Given the description of an element on the screen output the (x, y) to click on. 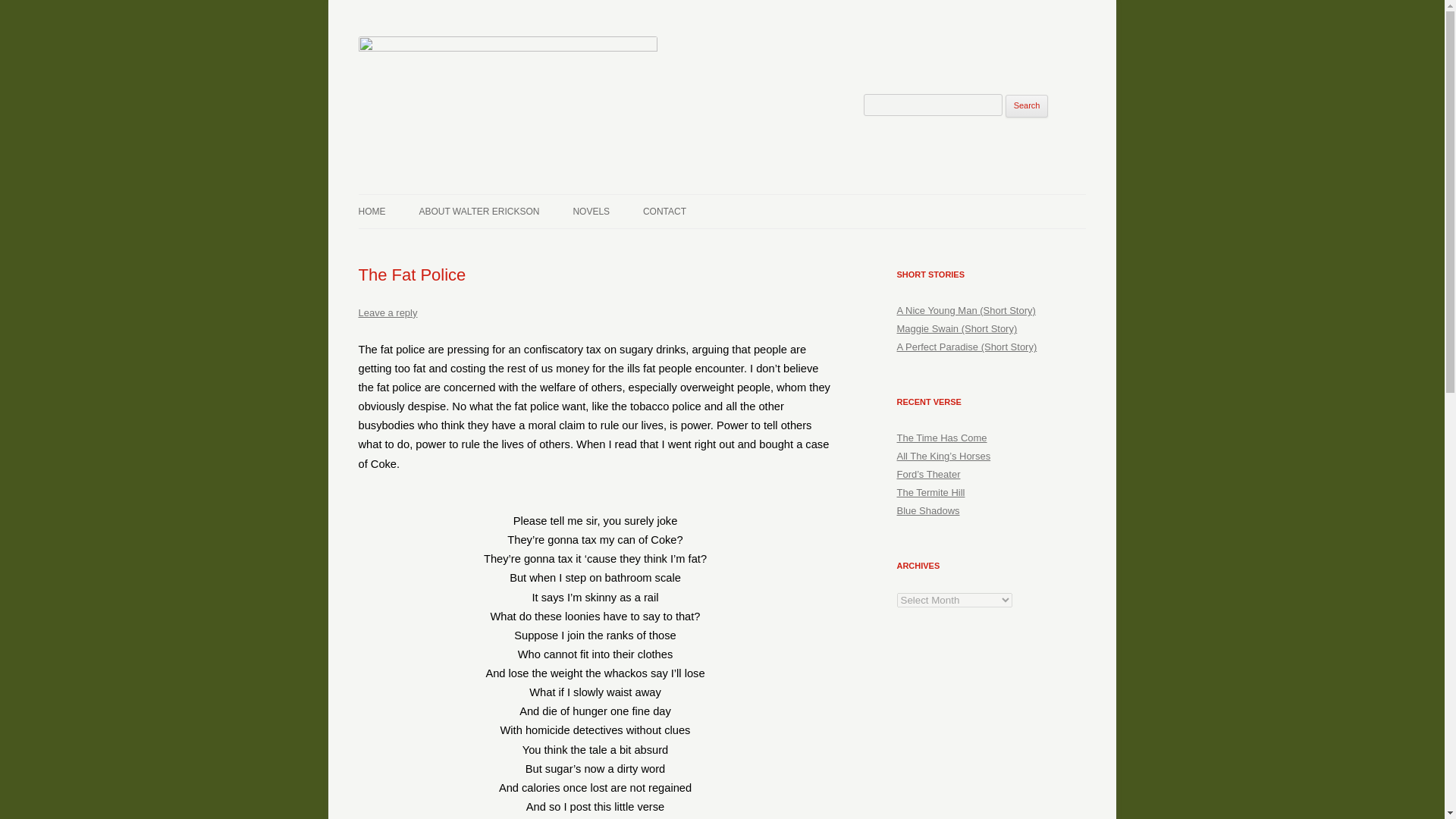
Verse-afire (408, 194)
The Time Has Come (941, 437)
CONTACT (664, 211)
The Termite Hill (929, 491)
Skip to content (757, 199)
NOVELS (591, 211)
Blue Shadows (927, 510)
Leave a reply (387, 312)
Search (1027, 106)
Search (1027, 106)
